Given the description of an element on the screen output the (x, y) to click on. 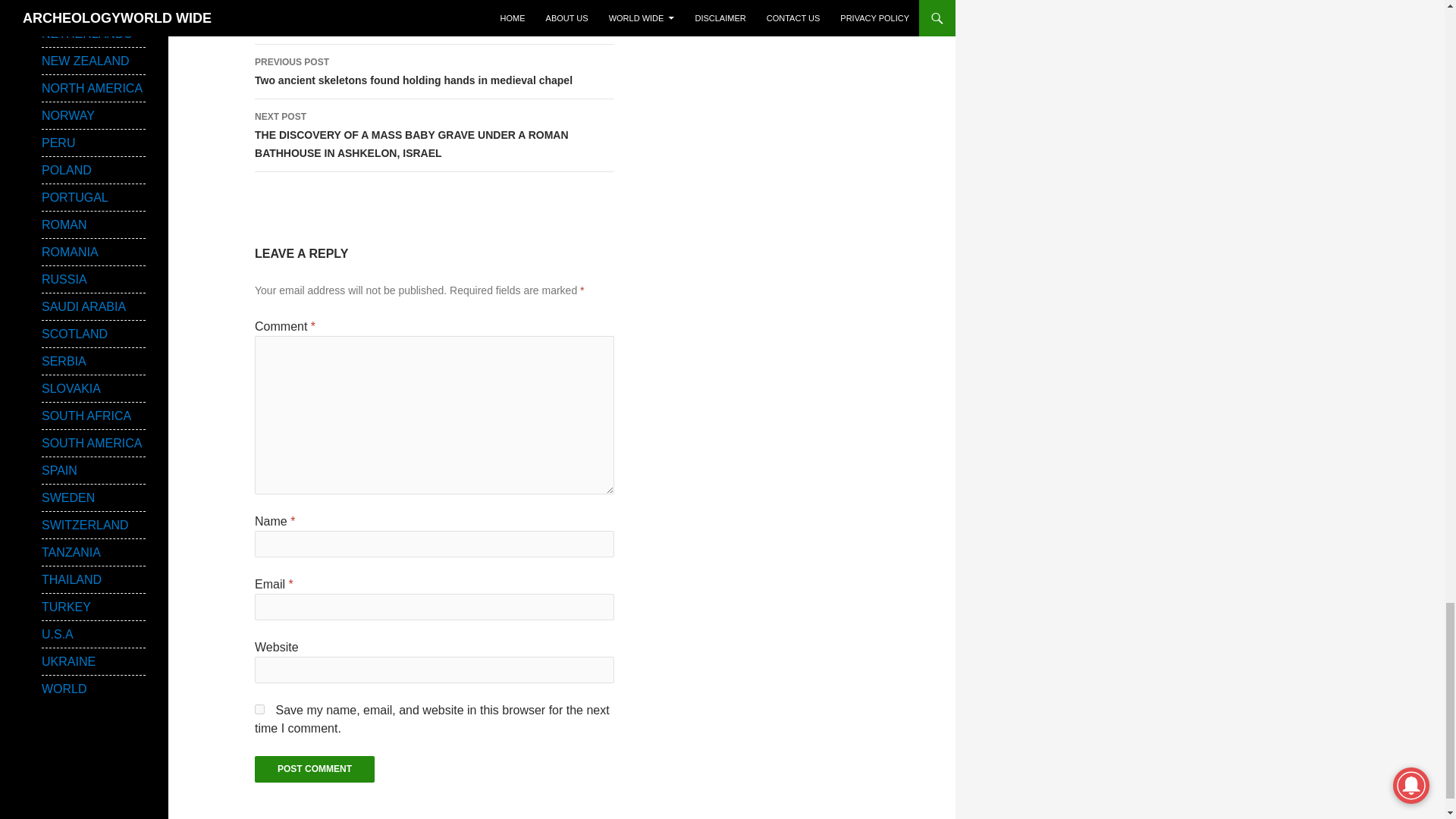
Post Comment (314, 768)
yes (259, 709)
